Given the description of an element on the screen output the (x, y) to click on. 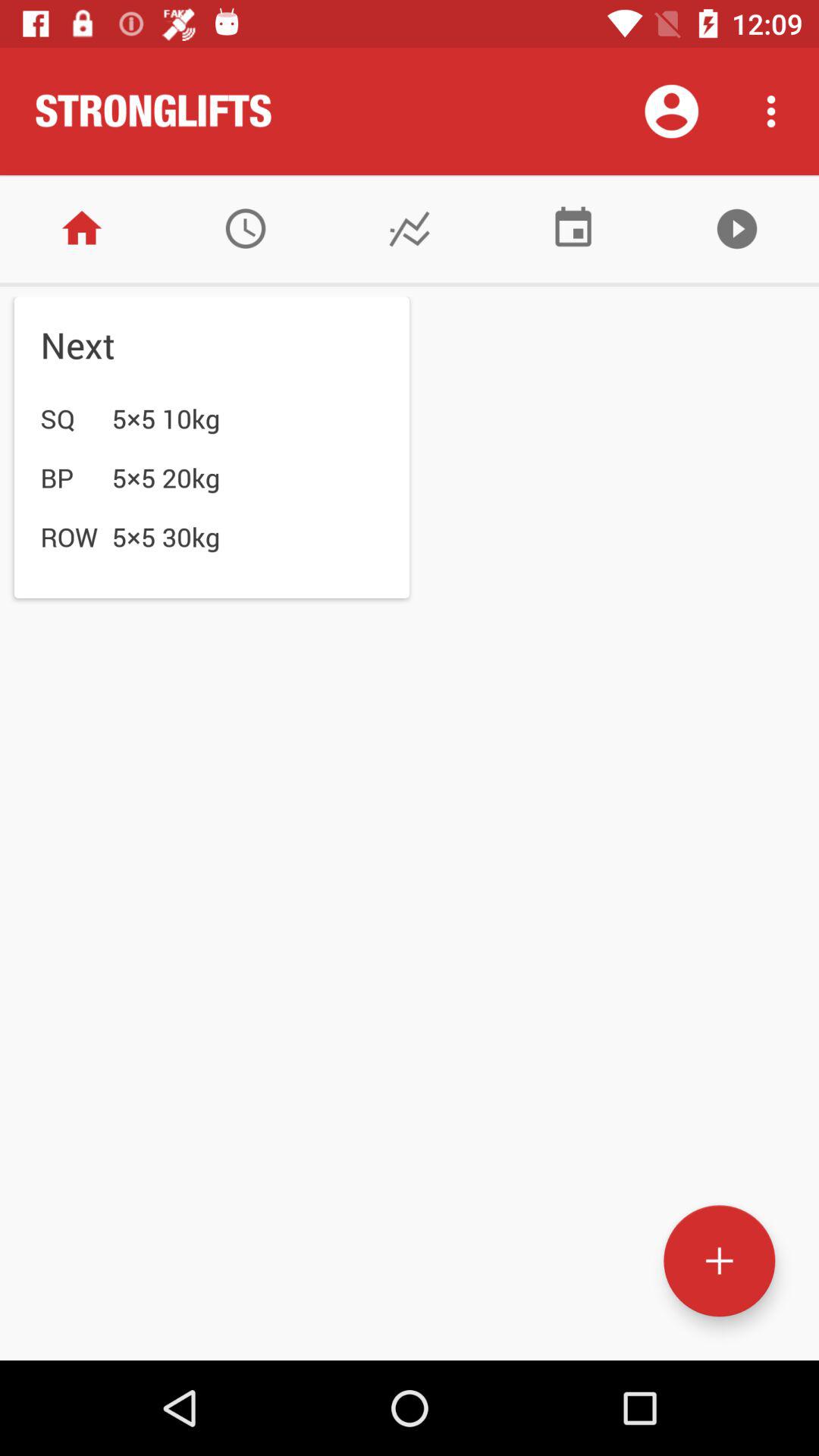
view chart (409, 228)
